Given the description of an element on the screen output the (x, y) to click on. 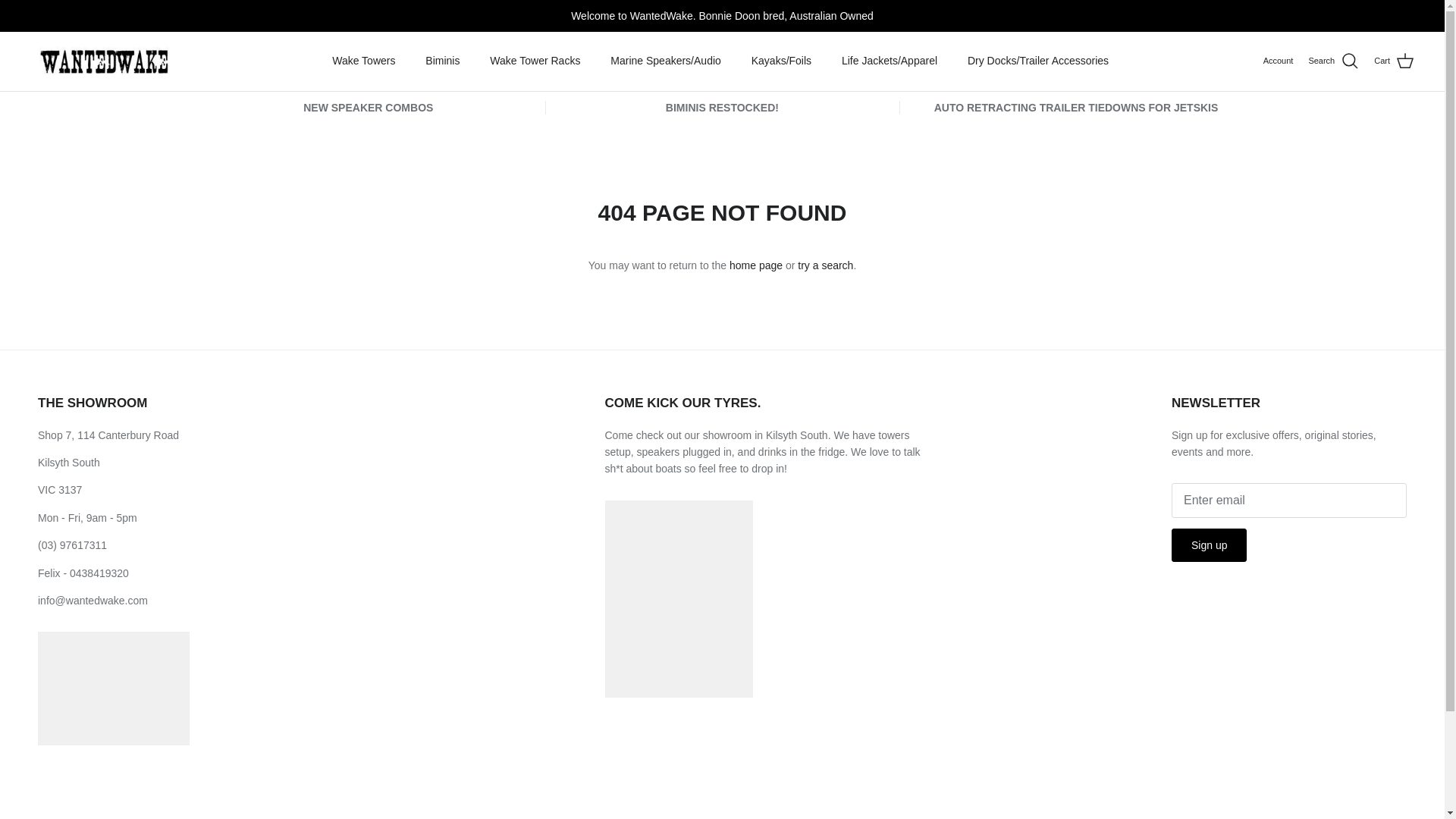
Search (1332, 61)
Wake Tower Racks (535, 60)
Account (1278, 60)
Wanted Wake (100, 61)
Biminis (442, 60)
Wake Towers (363, 60)
Cart (1393, 61)
